Given the description of an element on the screen output the (x, y) to click on. 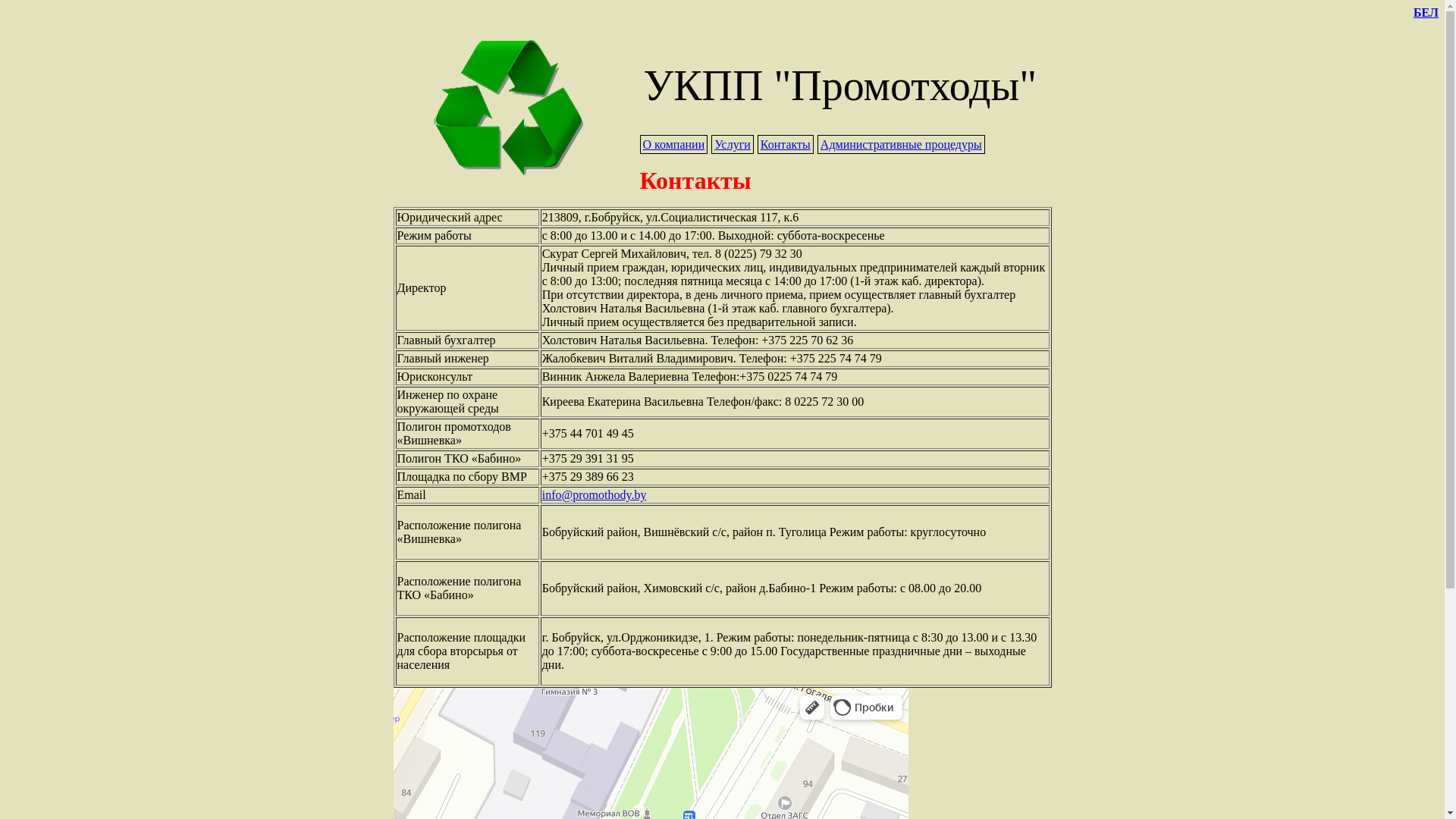
info@promothody.by Element type: text (594, 494)
